Given the description of an element on the screen output the (x, y) to click on. 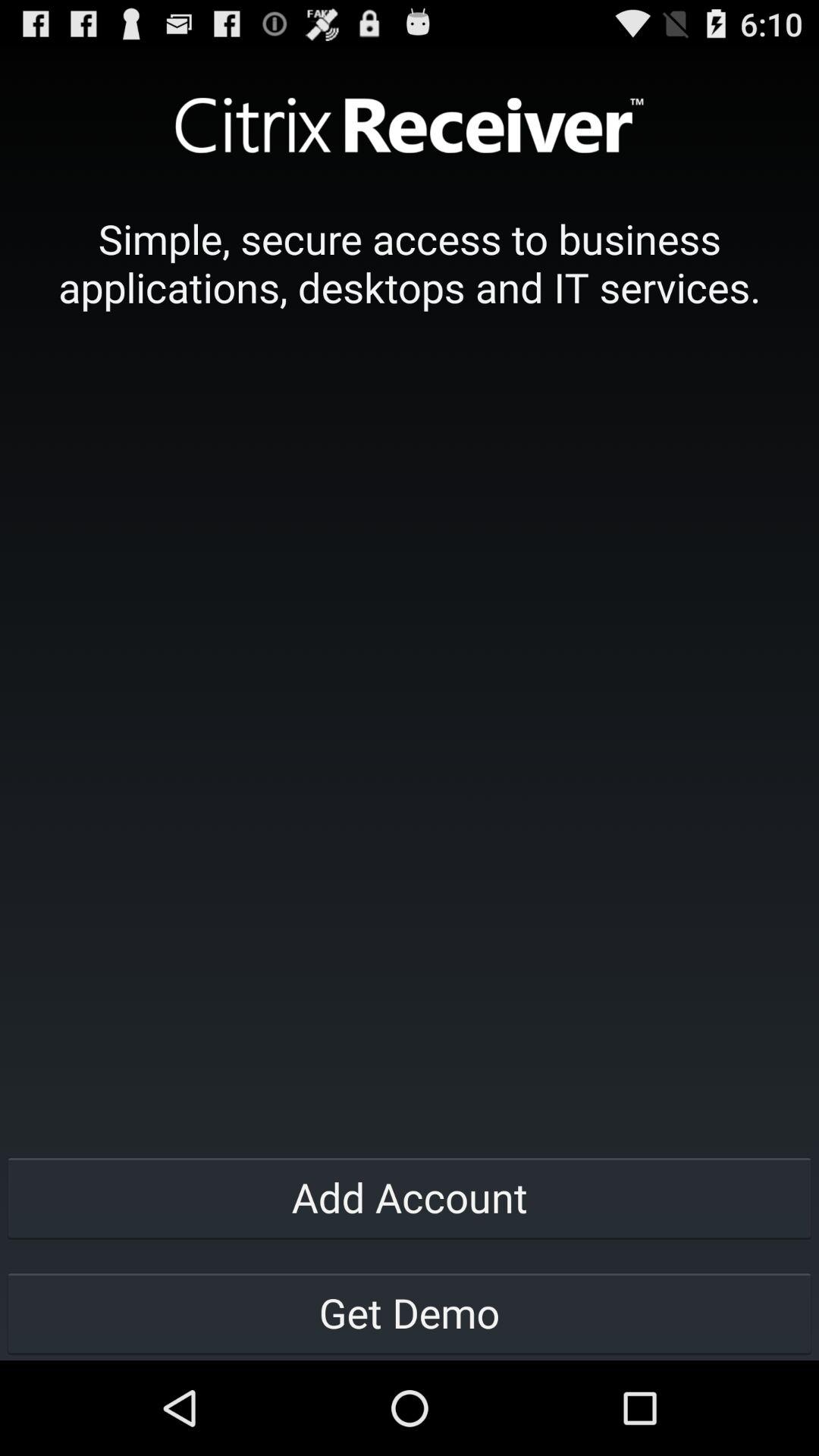
select the item above the get demo button (409, 1196)
